Given the description of an element on the screen output the (x, y) to click on. 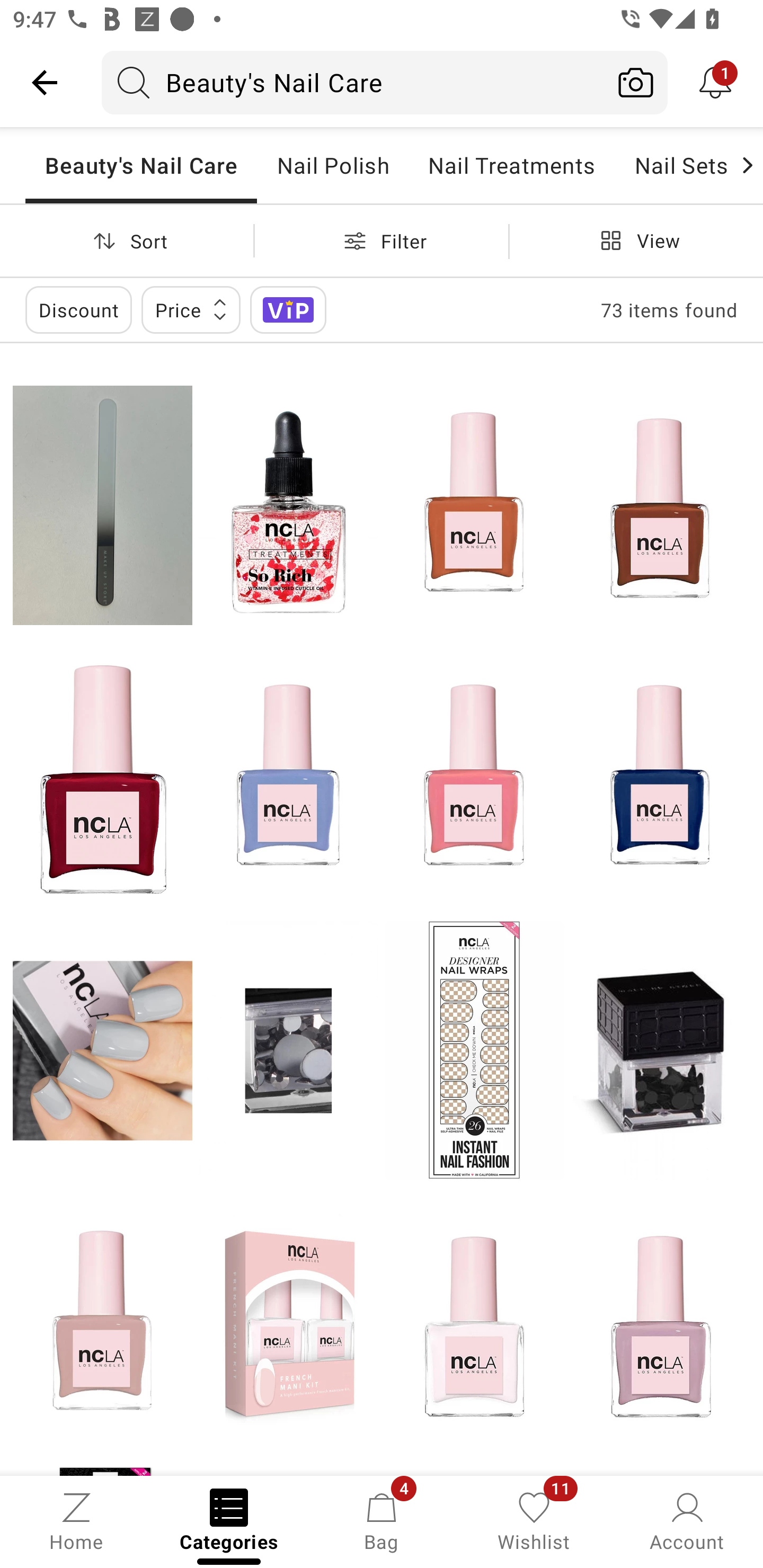
Navigate up (44, 82)
Beauty's Nail Care (352, 82)
Nail Polish (332, 165)
Nail Treatments (511, 165)
Nail Sets (675, 165)
Sort (126, 240)
Filter (381, 240)
View (636, 240)
Discount (78, 309)
Price (190, 309)
Home (76, 1519)
Bag, 4 new notifications Bag (381, 1519)
Wishlist, 11 new notifications Wishlist (533, 1519)
Account (686, 1519)
